Given the description of an element on the screen output the (x, y) to click on. 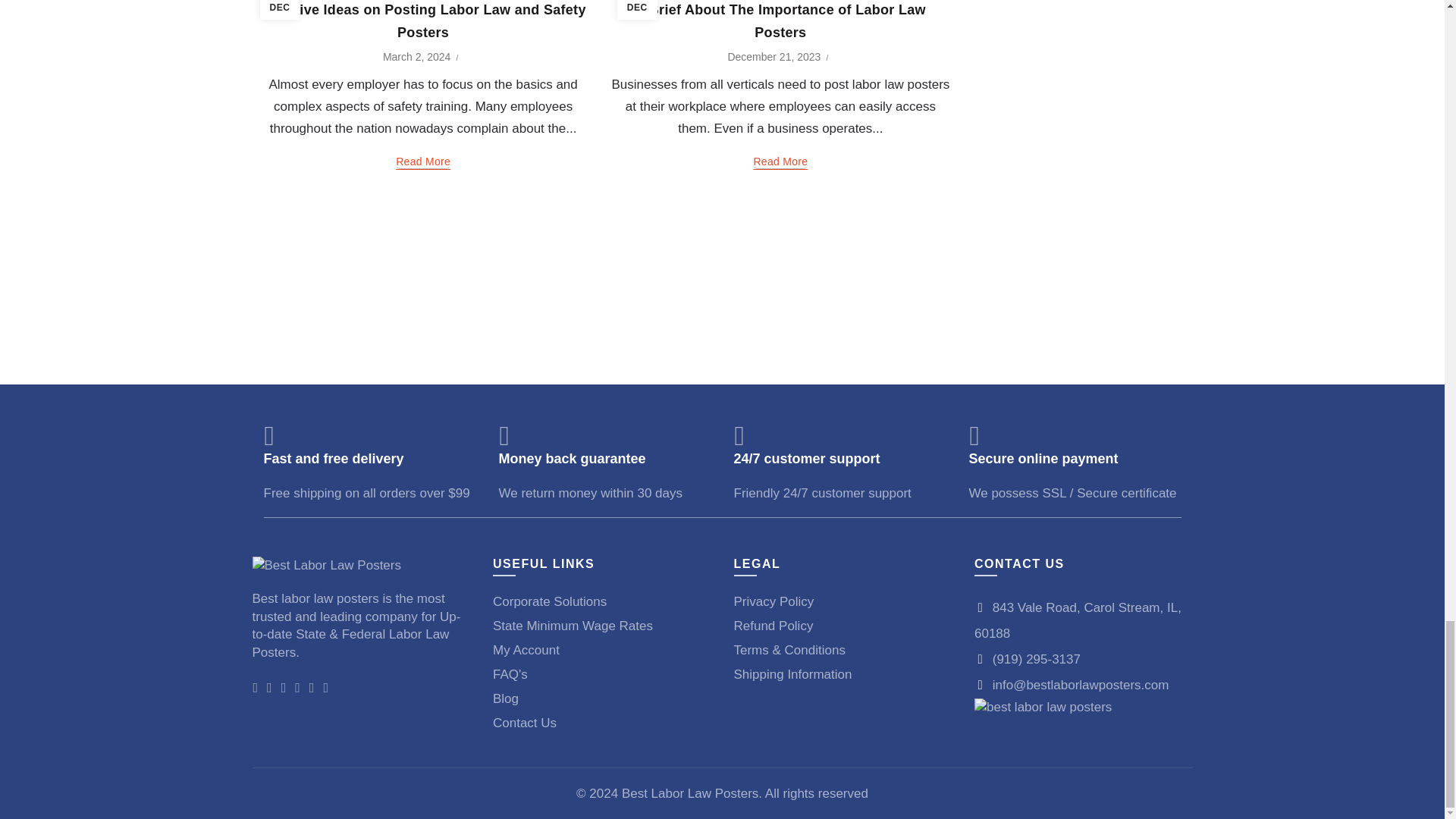
Effective Ideas on Posting Labor Law and Safety Posters (423, 21)
A Brief About The Importance of Labor Law Posters (780, 21)
